Given the description of an element on the screen output the (x, y) to click on. 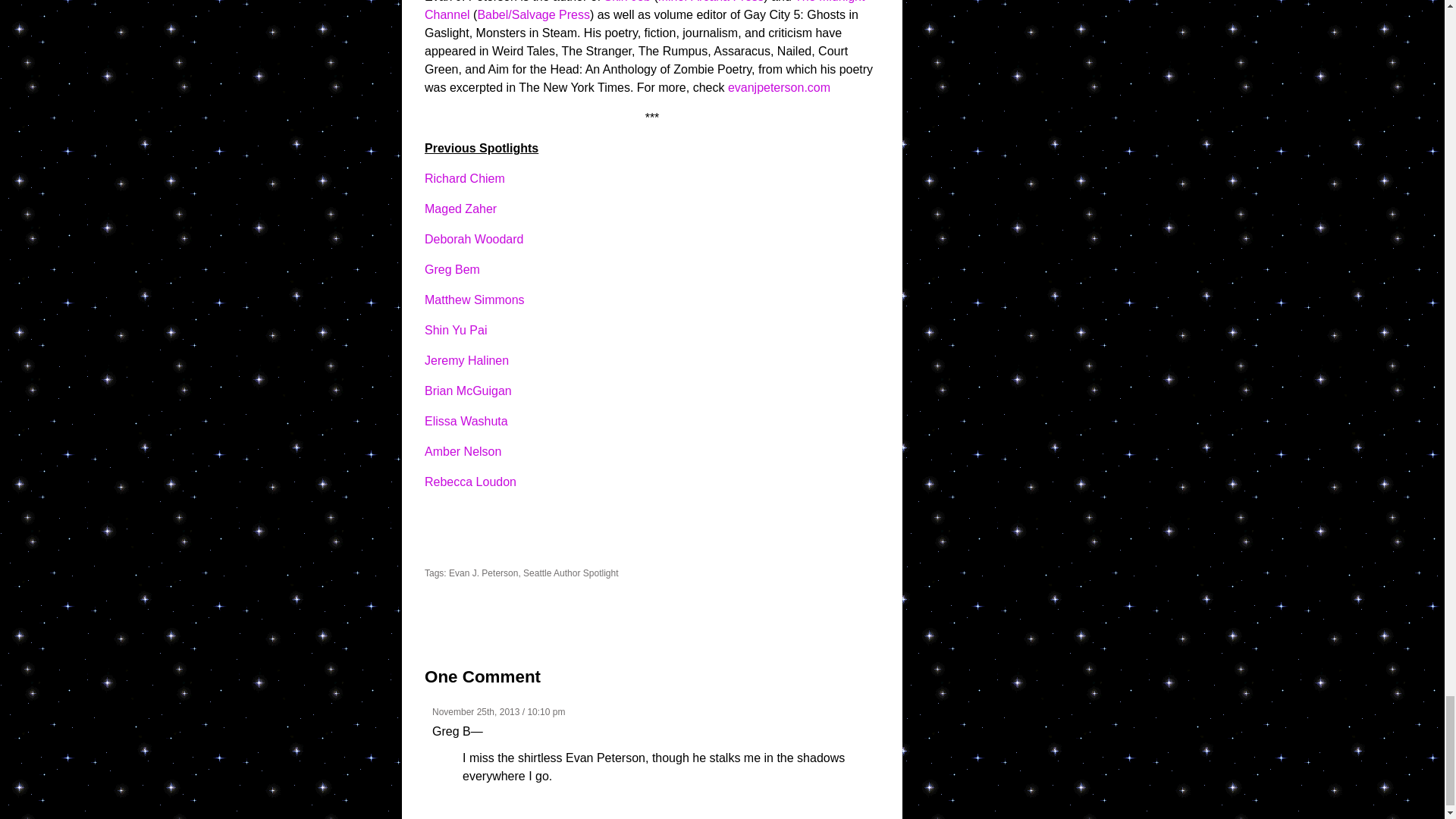
Rebecca Loudon (470, 481)
Brian McGuigan (468, 390)
Seattle Author Spotlight (569, 573)
Elissa Washuta (466, 420)
Matthew Simmons (474, 299)
Shin Yu Pai (455, 329)
Evan J. Peterson (483, 573)
evanjpeterson.com (778, 87)
Maged Zaher (460, 208)
Skin Job (627, 1)
